Given the description of an element on the screen output the (x, y) to click on. 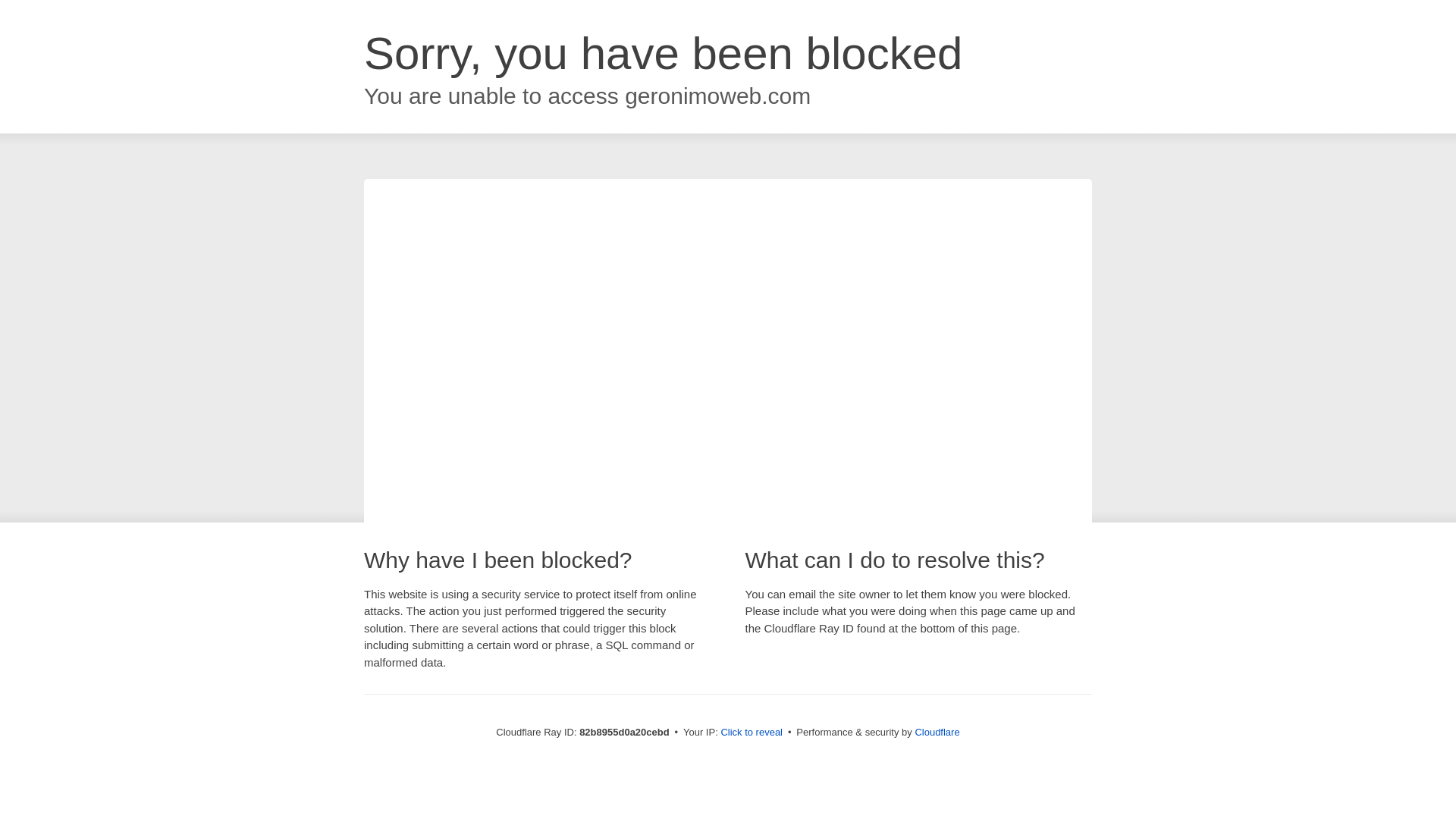
Cloudflare Element type: text (936, 731)
Click to reveal Element type: text (751, 732)
